Given the description of an element on the screen output the (x, y) to click on. 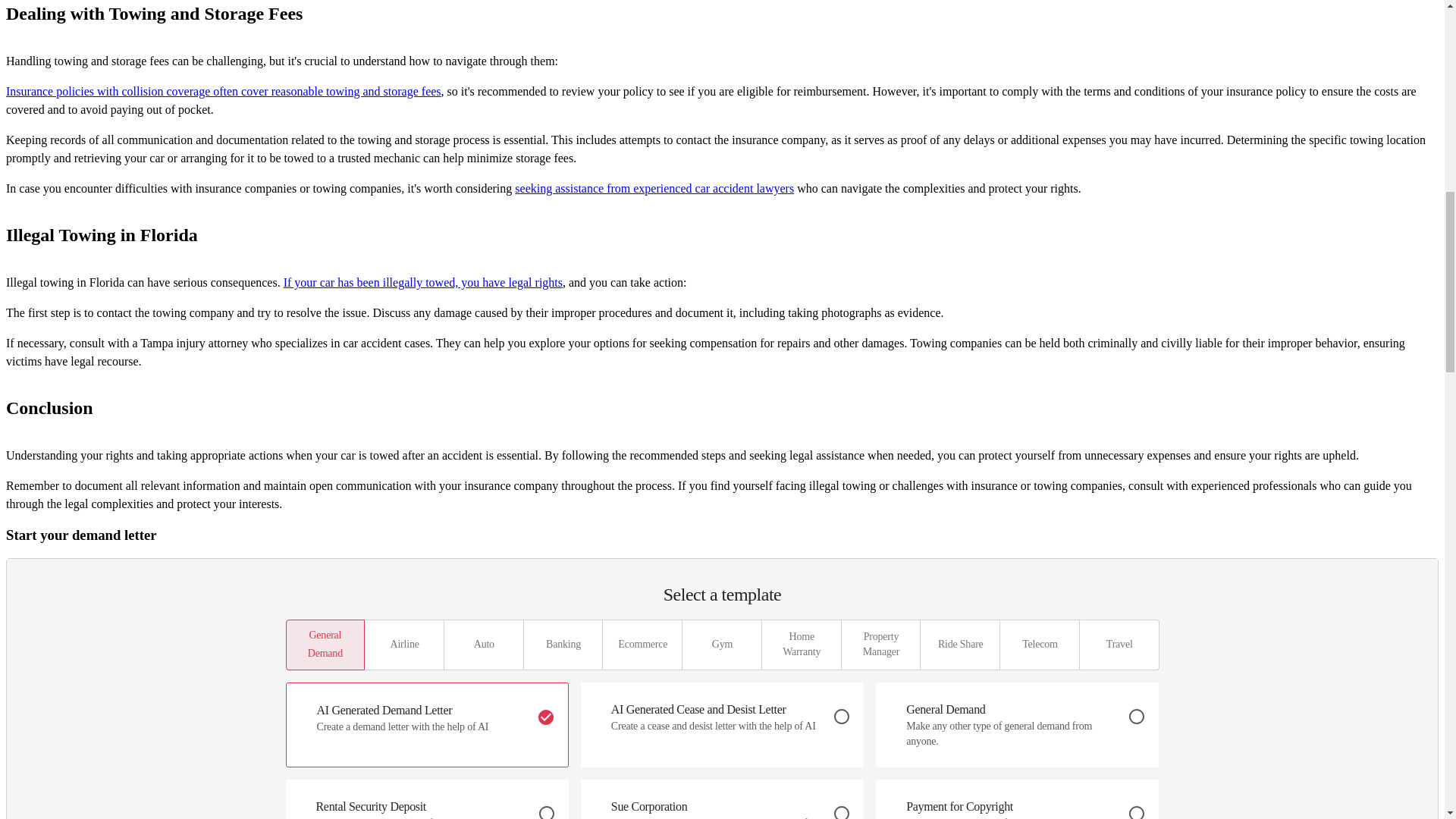
If your car has been illegally towed, you have legal rights (422, 282)
seeking assistance from experienced car accident lawyers (654, 187)
